Given the description of an element on the screen output the (x, y) to click on. 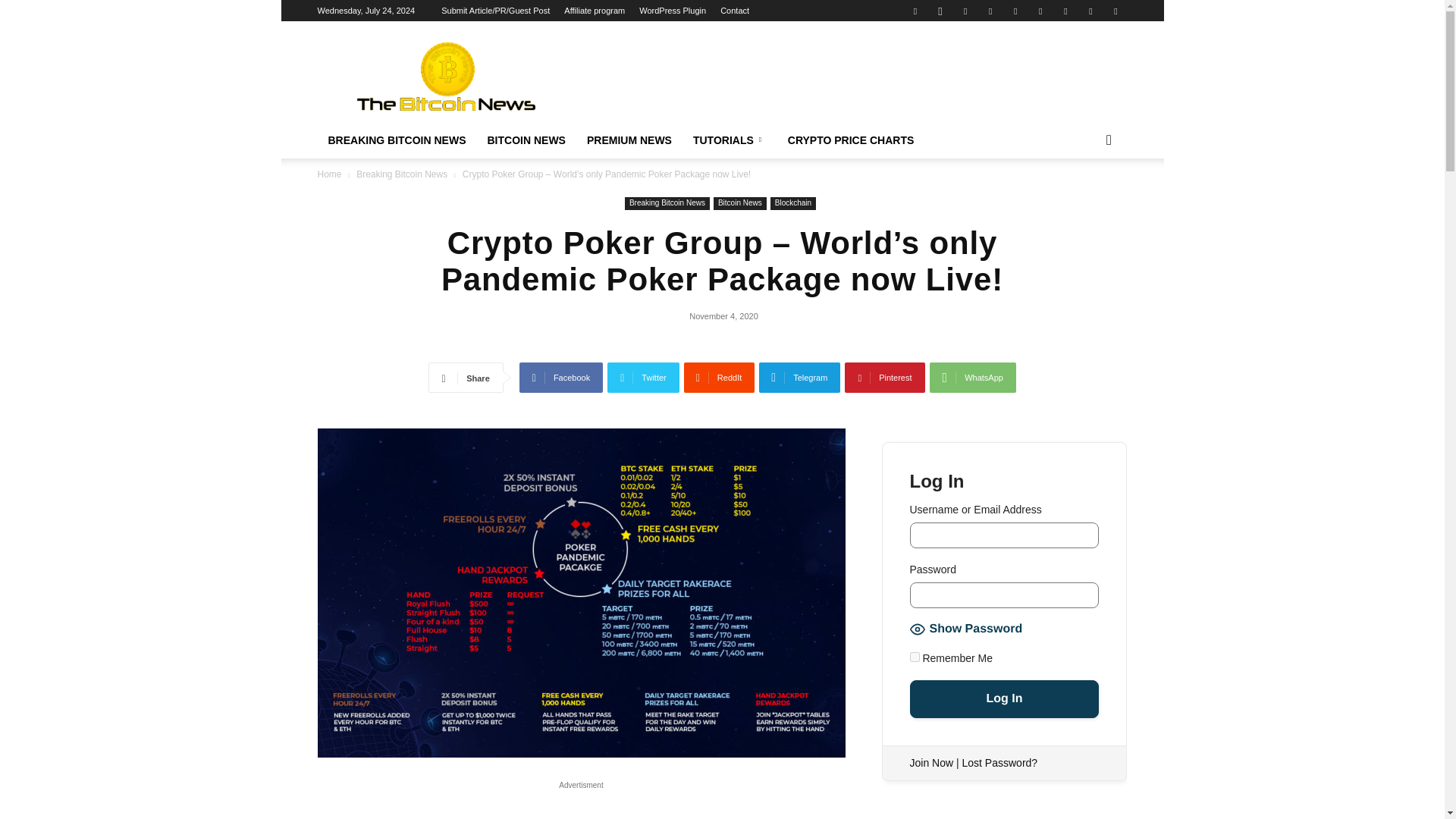
Contact (734, 10)
Reddit (1015, 10)
forever (915, 656)
Pinterest (989, 10)
Instagram (940, 10)
WordPress Plugin (672, 10)
Log In (1004, 699)
Facebook (915, 10)
Affiliate program (594, 10)
Mail (964, 10)
